Given the description of an element on the screen output the (x, y) to click on. 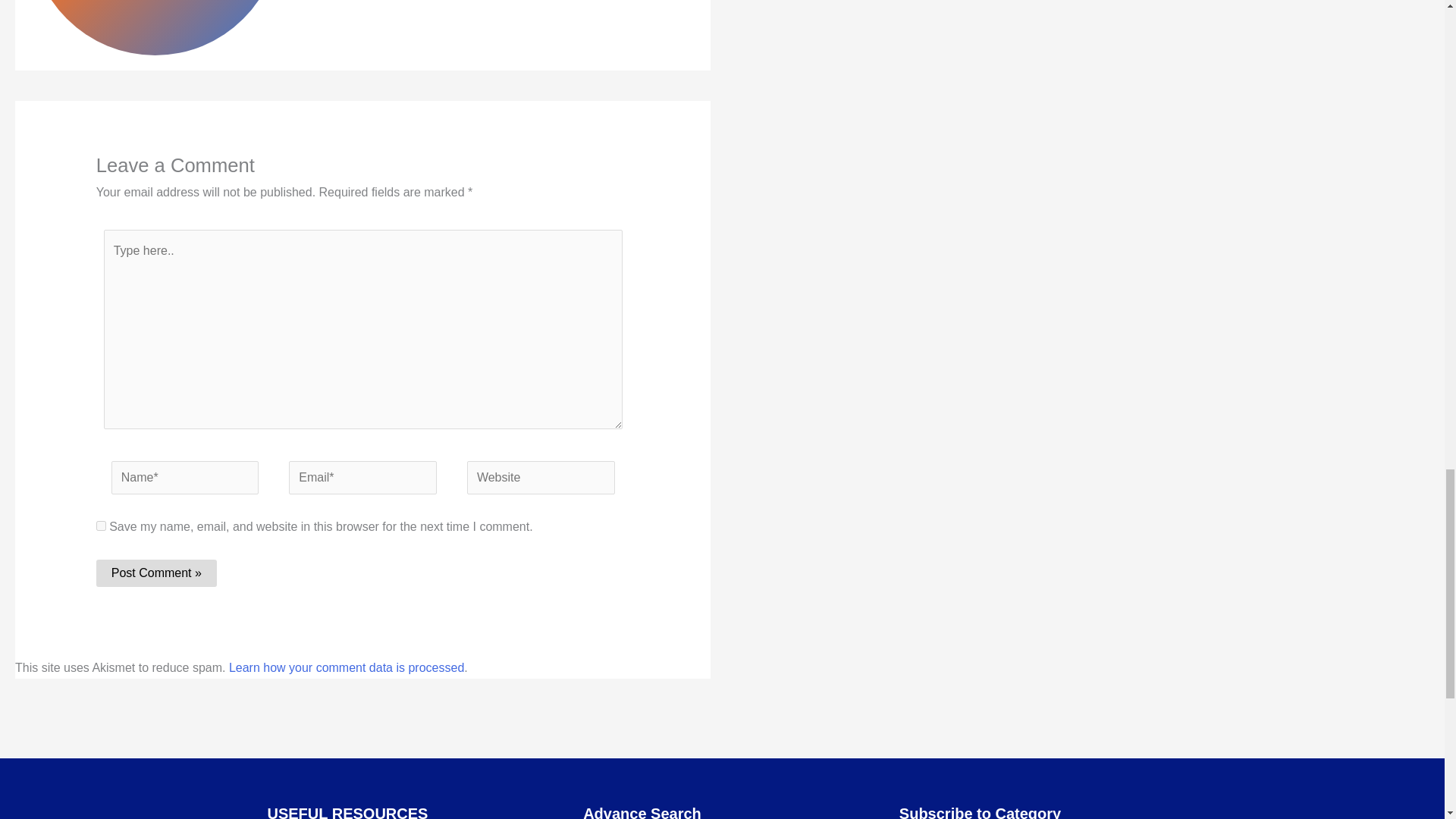
yes (101, 525)
